Given the description of an element on the screen output the (x, y) to click on. 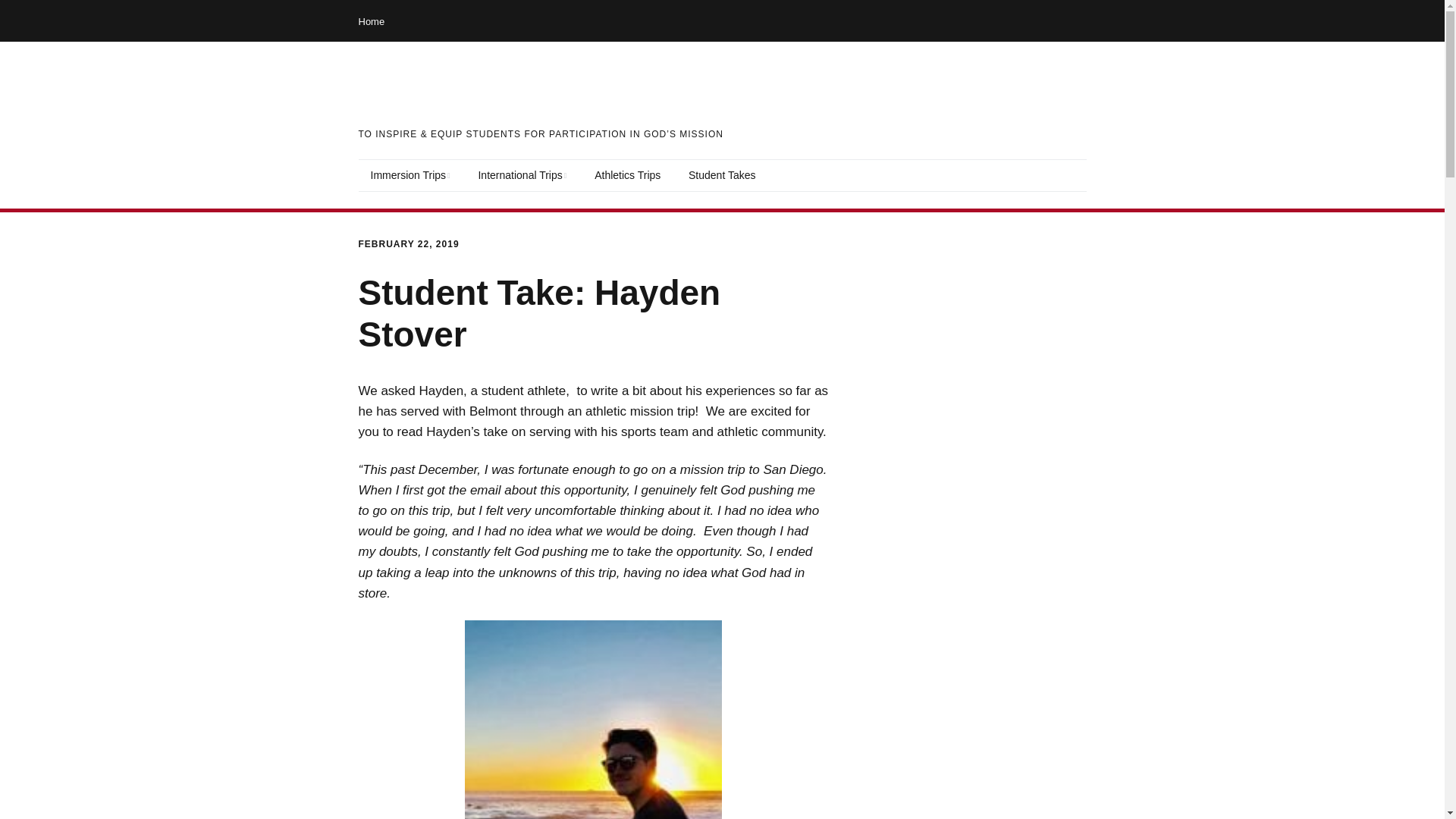
International Trips (521, 175)
Student Takes (722, 175)
Athletics Trips (627, 175)
Home (371, 21)
Immersion Trips (409, 175)
